Given the description of an element on the screen output the (x, y) to click on. 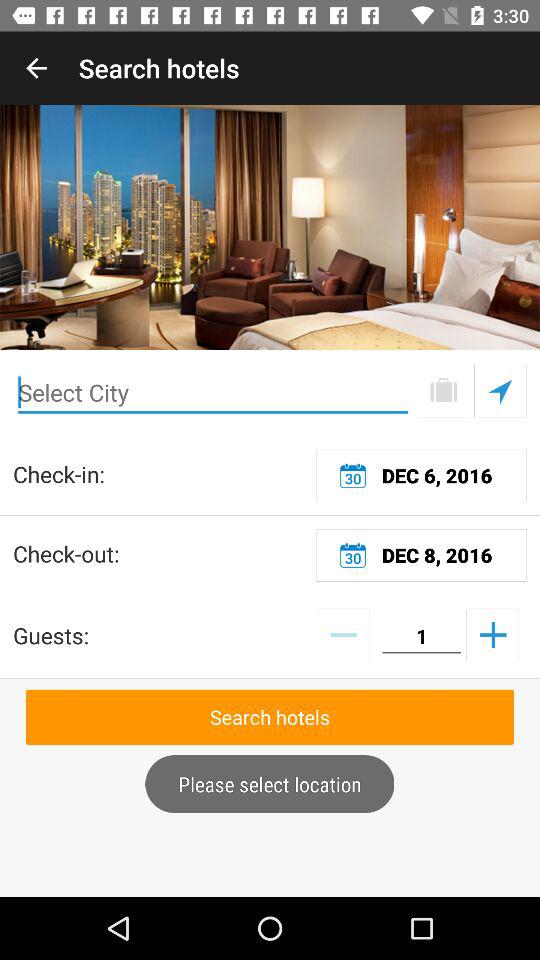
decrese button (342, 634)
